Given the description of an element on the screen output the (x, y) to click on. 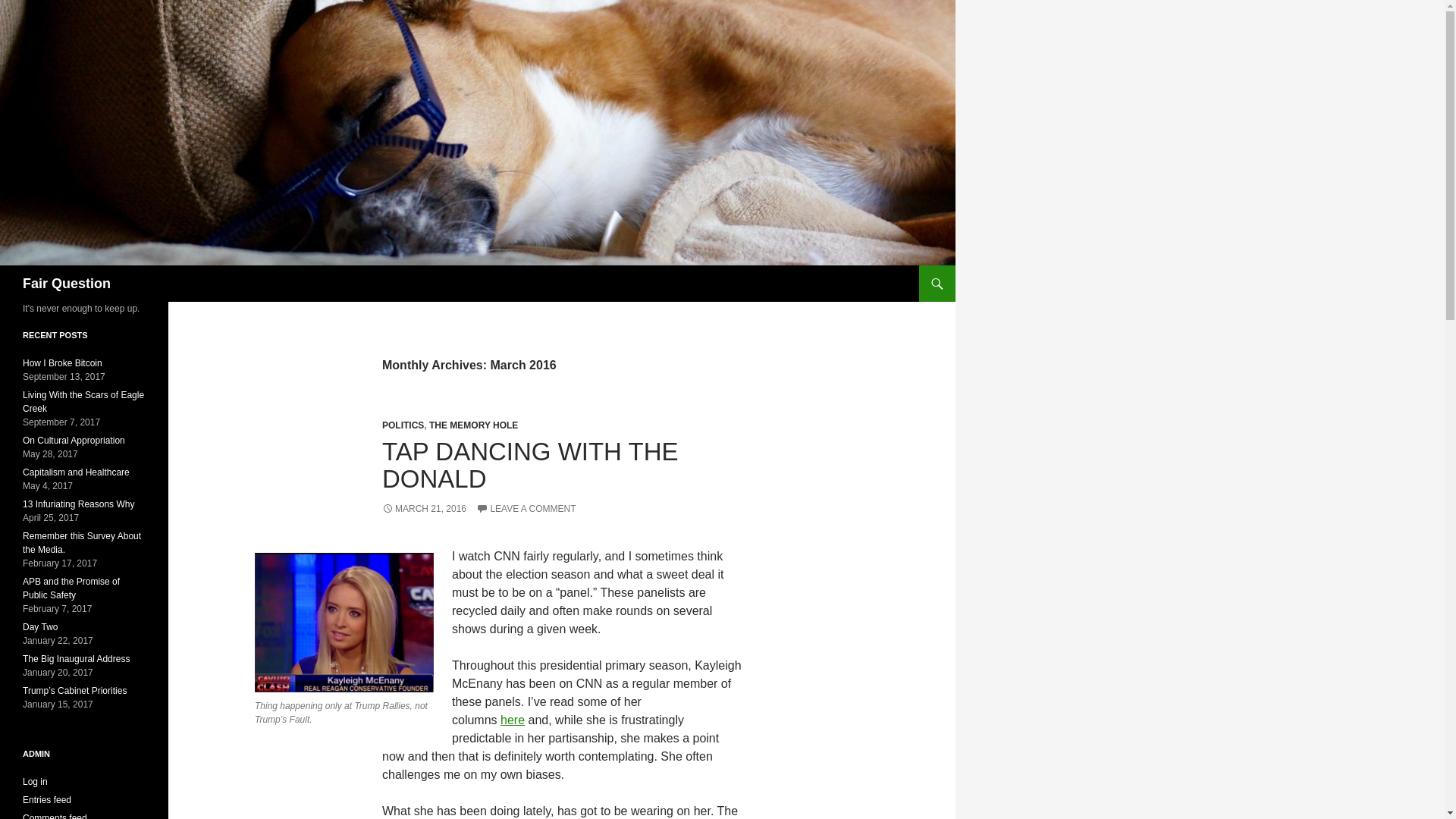
Capitalism and Healthcare (76, 471)
MARCH 21, 2016 (423, 508)
On Cultural Appropriation (74, 439)
LEAVE A COMMENT (525, 508)
Log in (35, 781)
Entries feed (47, 799)
Fair Question (66, 283)
Living With the Scars of Eagle Creek (83, 401)
How I Broke Bitcoin (62, 362)
The Big Inaugural Address (76, 658)
POLITICS (402, 425)
Comments feed (55, 816)
Day Two (40, 626)
